Given the description of an element on the screen output the (x, y) to click on. 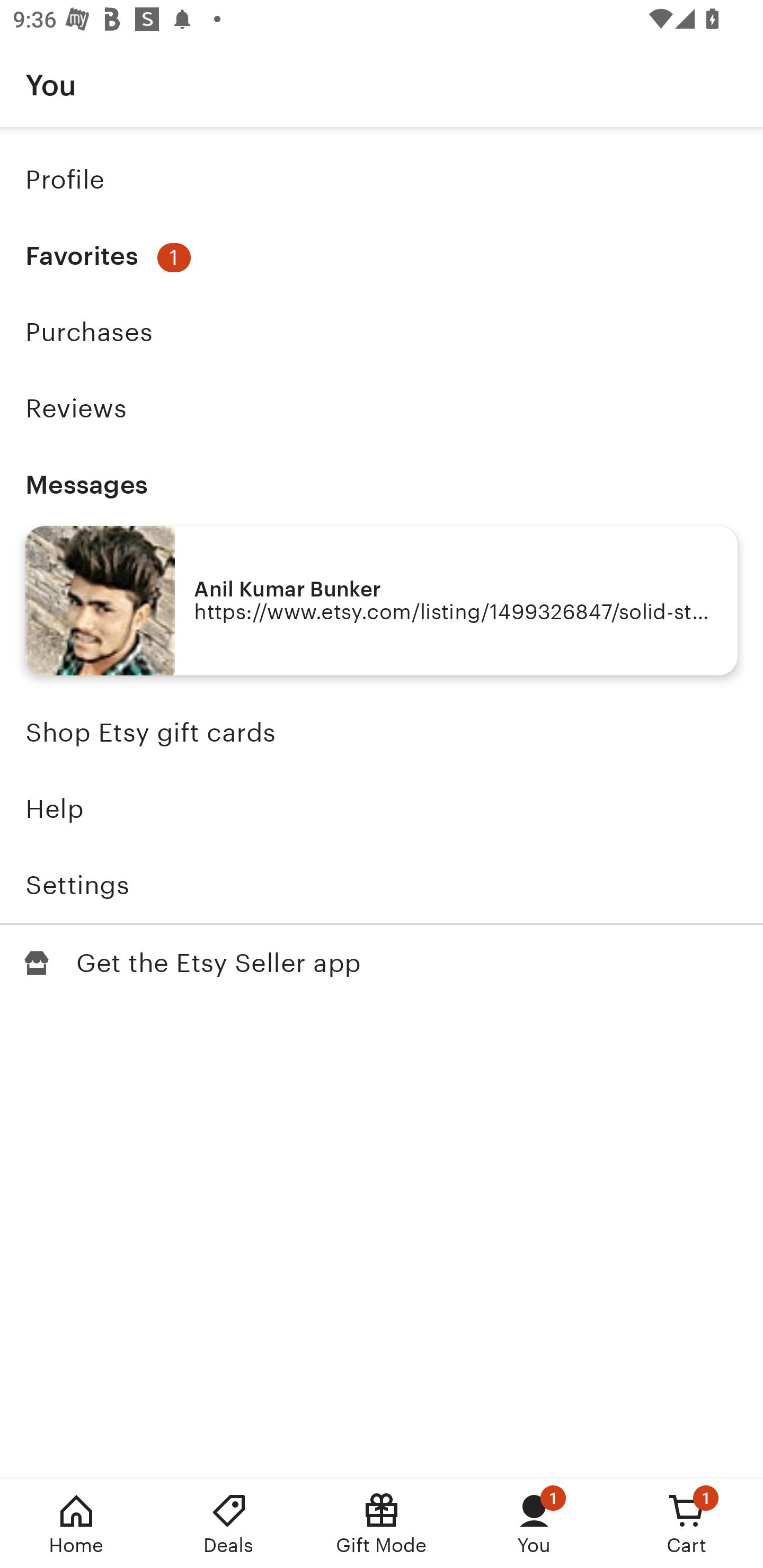
Profile (381, 179)
Favorites 1 (381, 255)
Purchases (381, 332)
Reviews (381, 408)
Messages (381, 484)
Shop Etsy gift cards (381, 732)
Help (381, 808)
Settings (381, 884)
Get the Etsy Seller app (381, 963)
Home (76, 1523)
Deals (228, 1523)
Gift Mode (381, 1523)
Cart, 1 new notification Cart (686, 1523)
